Given the description of an element on the screen output the (x, y) to click on. 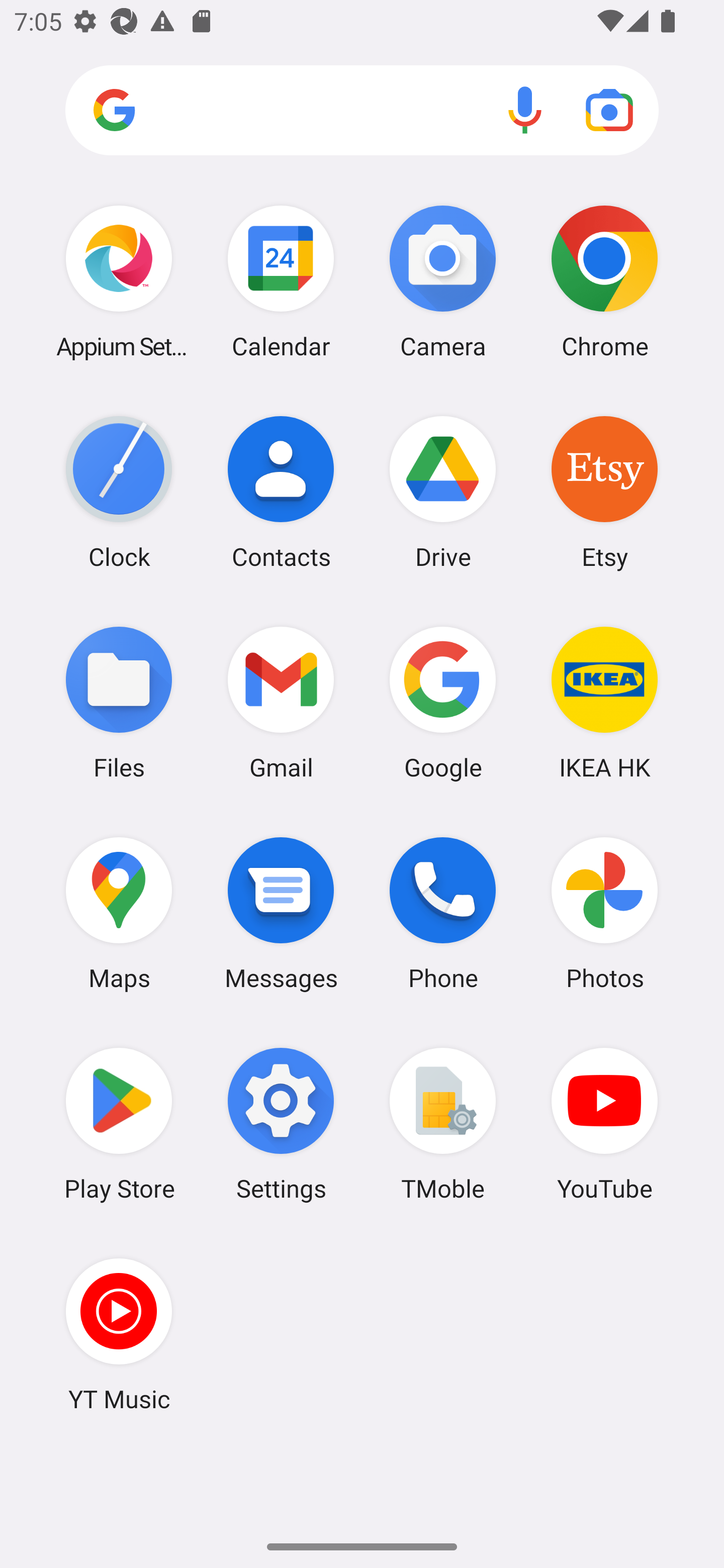
Search apps, web and more (361, 110)
Voice search (524, 109)
Google Lens (608, 109)
Appium Settings (118, 281)
Calendar (280, 281)
Camera (443, 281)
Chrome (604, 281)
Clock (118, 492)
Contacts (280, 492)
Drive (443, 492)
Etsy (604, 492)
Files (118, 702)
Gmail (280, 702)
Google (443, 702)
IKEA HK (604, 702)
Maps (118, 913)
Messages (280, 913)
Phone (443, 913)
Photos (604, 913)
Play Store (118, 1124)
Settings (280, 1124)
TMoble (443, 1124)
YouTube (604, 1124)
YT Music (118, 1334)
